Given the description of an element on the screen output the (x, y) to click on. 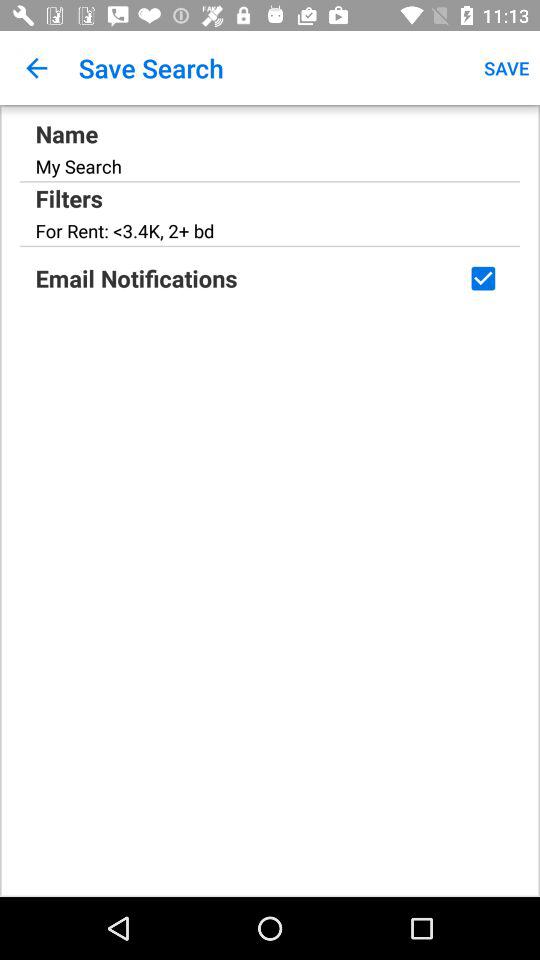
deselect notifications (483, 278)
